Given the description of an element on the screen output the (x, y) to click on. 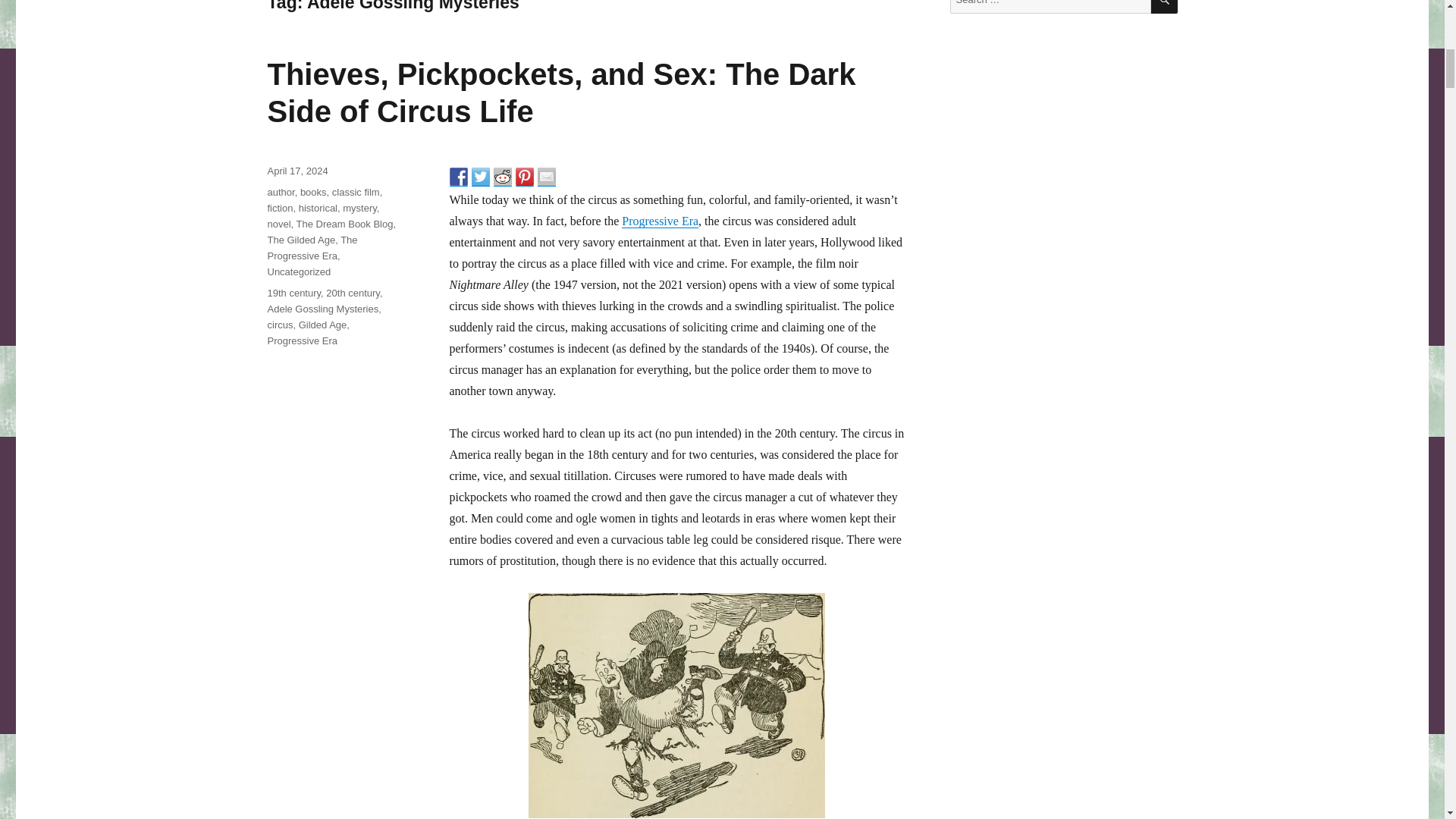
Share by email (545, 176)
Pin it with Pinterest (524, 176)
Share on Twitter (480, 176)
Thieves, Pickpockets, and Sex: The Dark Side of Circus Life (561, 92)
Share on Facebook (457, 176)
Share on Reddit (502, 176)
